Given the description of an element on the screen output the (x, y) to click on. 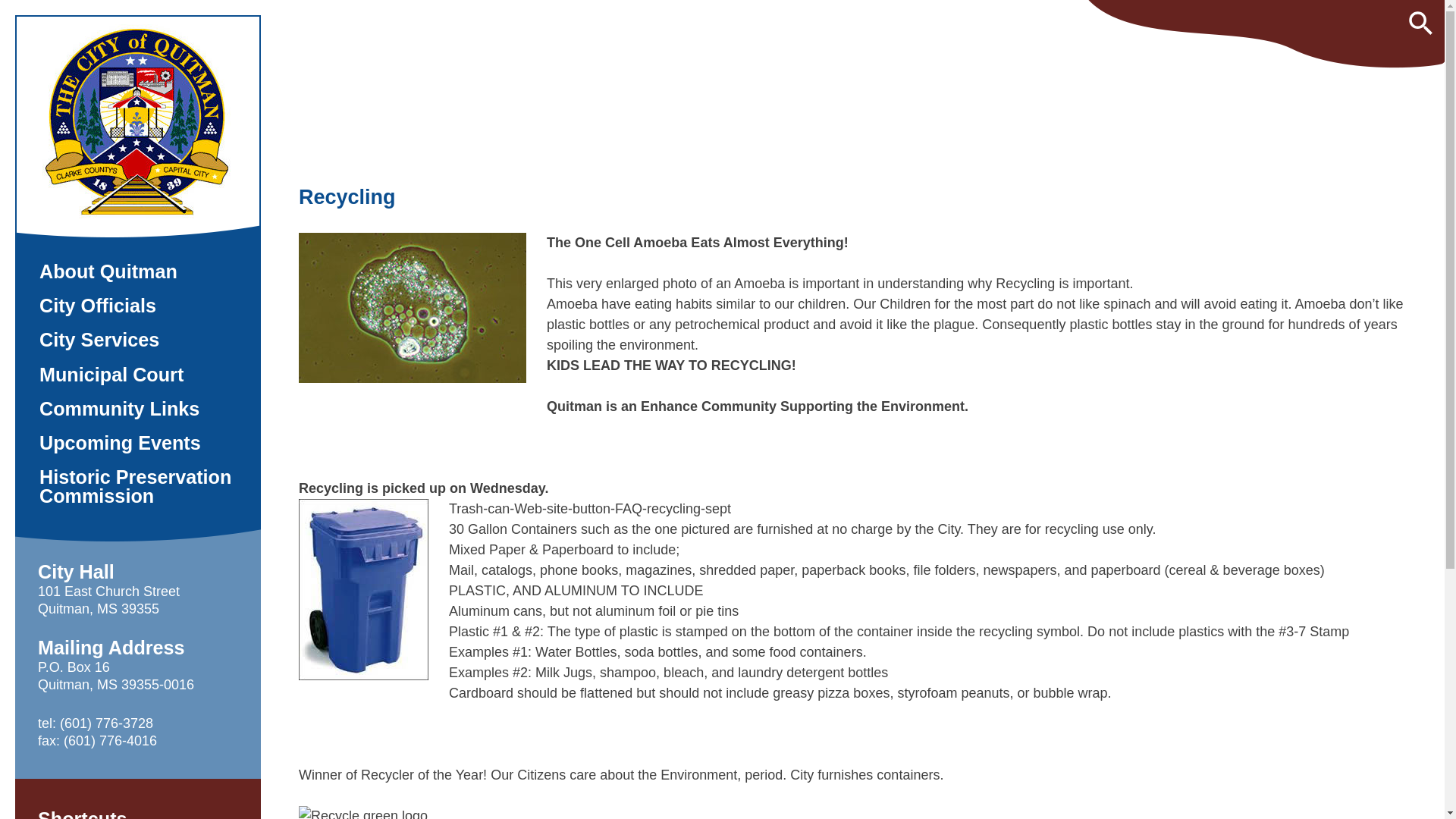
City Services (137, 339)
Quitman, Mississippi (86, 247)
About Quitman (137, 271)
Municipal Court (137, 374)
City Officials (137, 305)
